Given the description of an element on the screen output the (x, y) to click on. 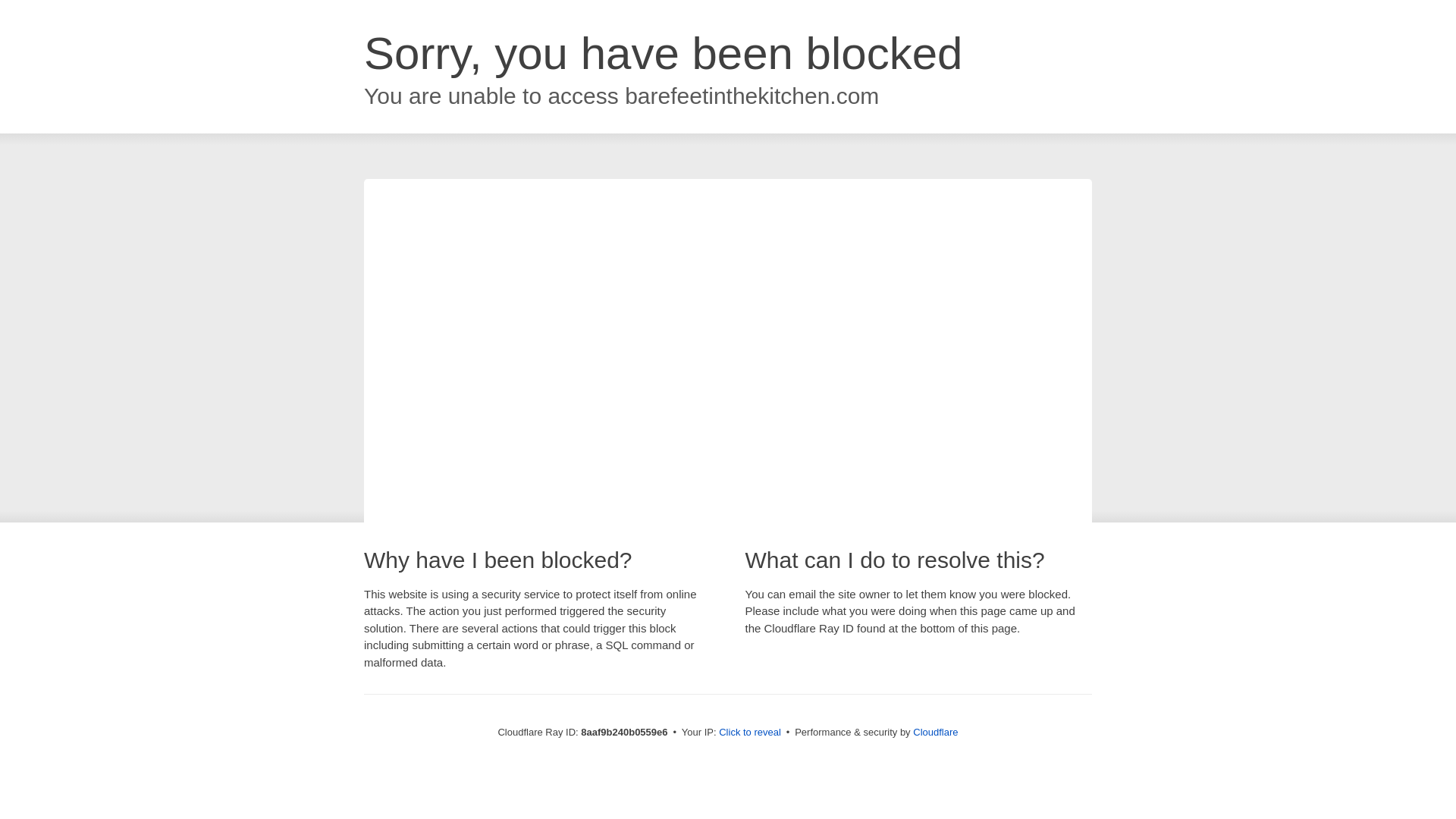
Click to reveal (749, 732)
Cloudflare (935, 731)
